Given the description of an element on the screen output the (x, y) to click on. 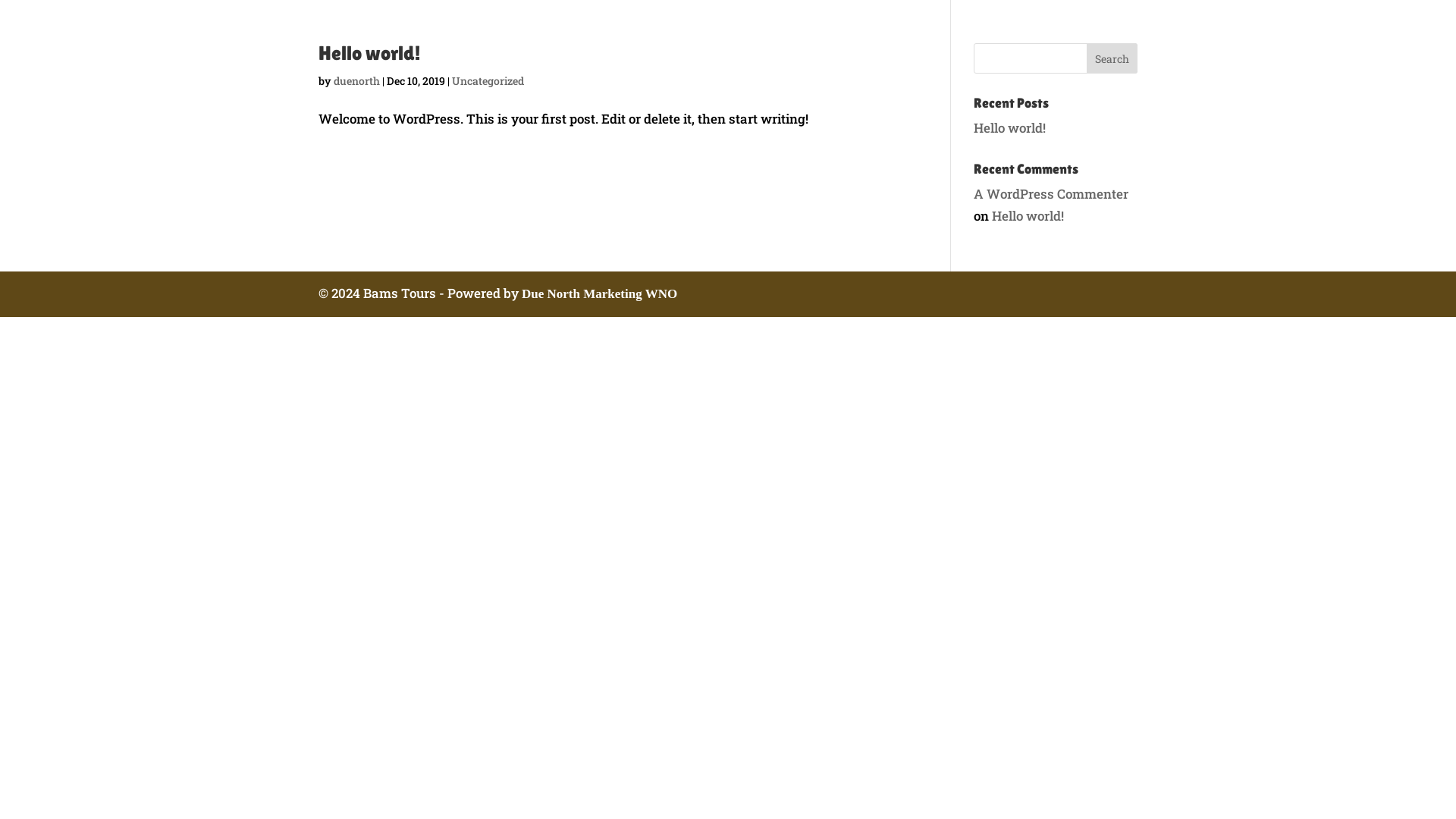
Hello world! Element type: text (1027, 215)
Hello world! Element type: text (1009, 127)
Search Element type: text (1111, 58)
Due North Marketing Element type: text (581, 293)
Hello world! Element type: text (369, 52)
A WordPress Commenter Element type: text (1050, 193)
Uncategorized Element type: text (487, 80)
duenorth Element type: text (356, 80)
WNO Element type: text (661, 293)
